Given the description of an element on the screen output the (x, y) to click on. 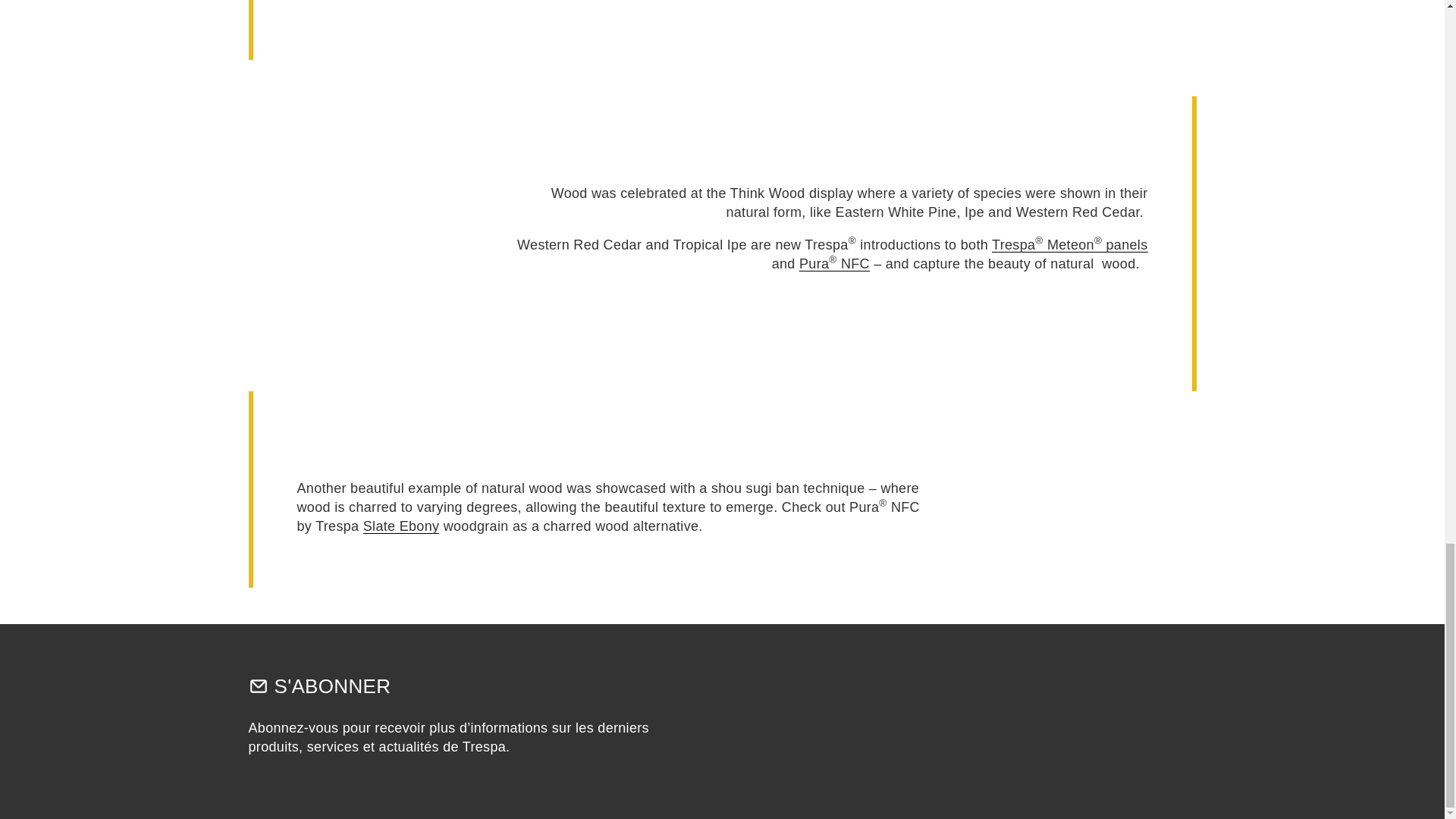
Slate Ebony (400, 525)
